Given the description of an element on the screen output the (x, y) to click on. 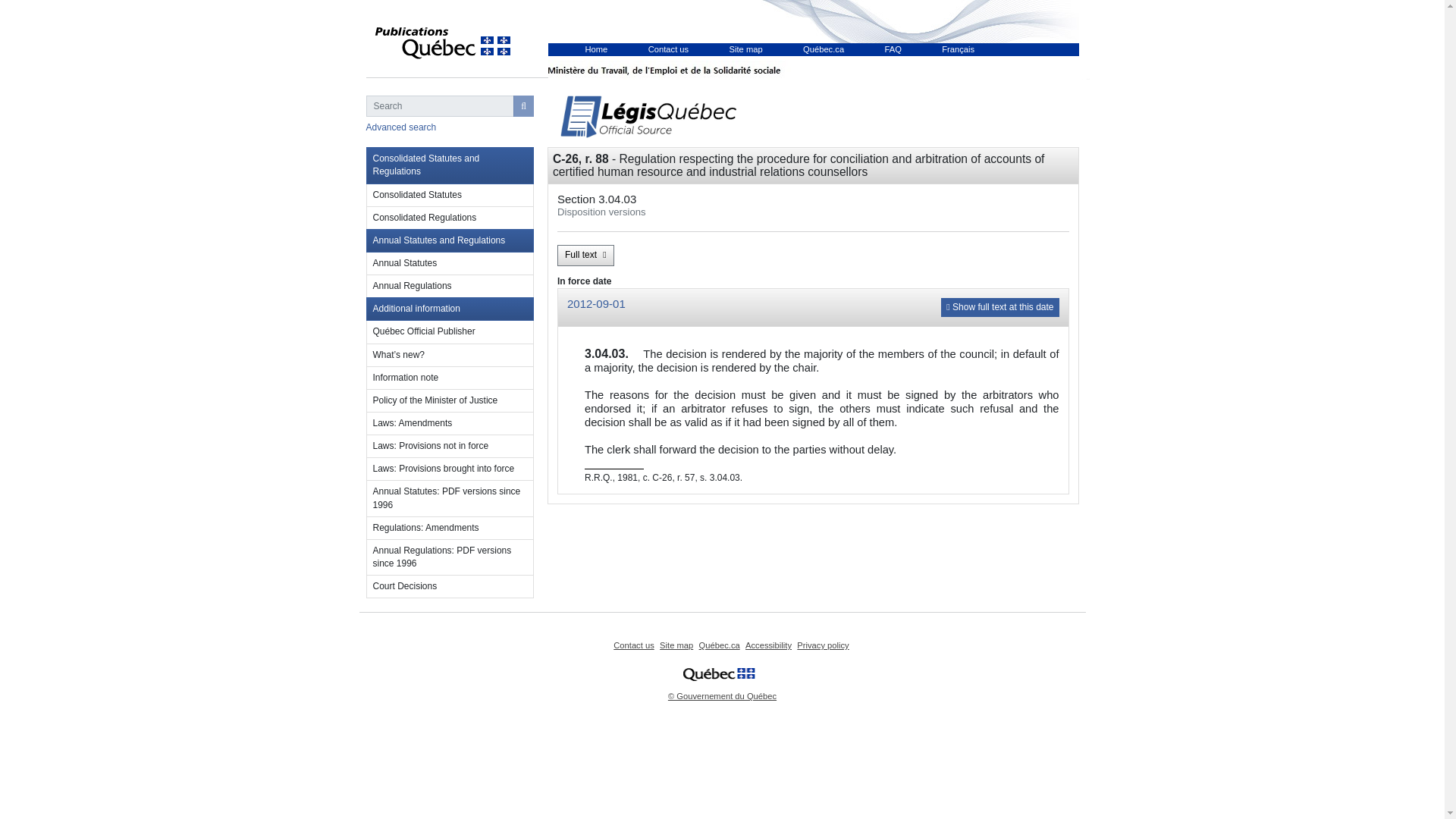
Site map (745, 49)
Site map (676, 645)
Information note (449, 377)
Annual Statutes and Regulations (449, 240)
Show full text at this date (999, 307)
Annual Statutes (449, 263)
Home (596, 49)
Contact us (633, 645)
Policy of the Minister of Justice (449, 400)
Annual Regulations (449, 286)
